Given the description of an element on the screen output the (x, y) to click on. 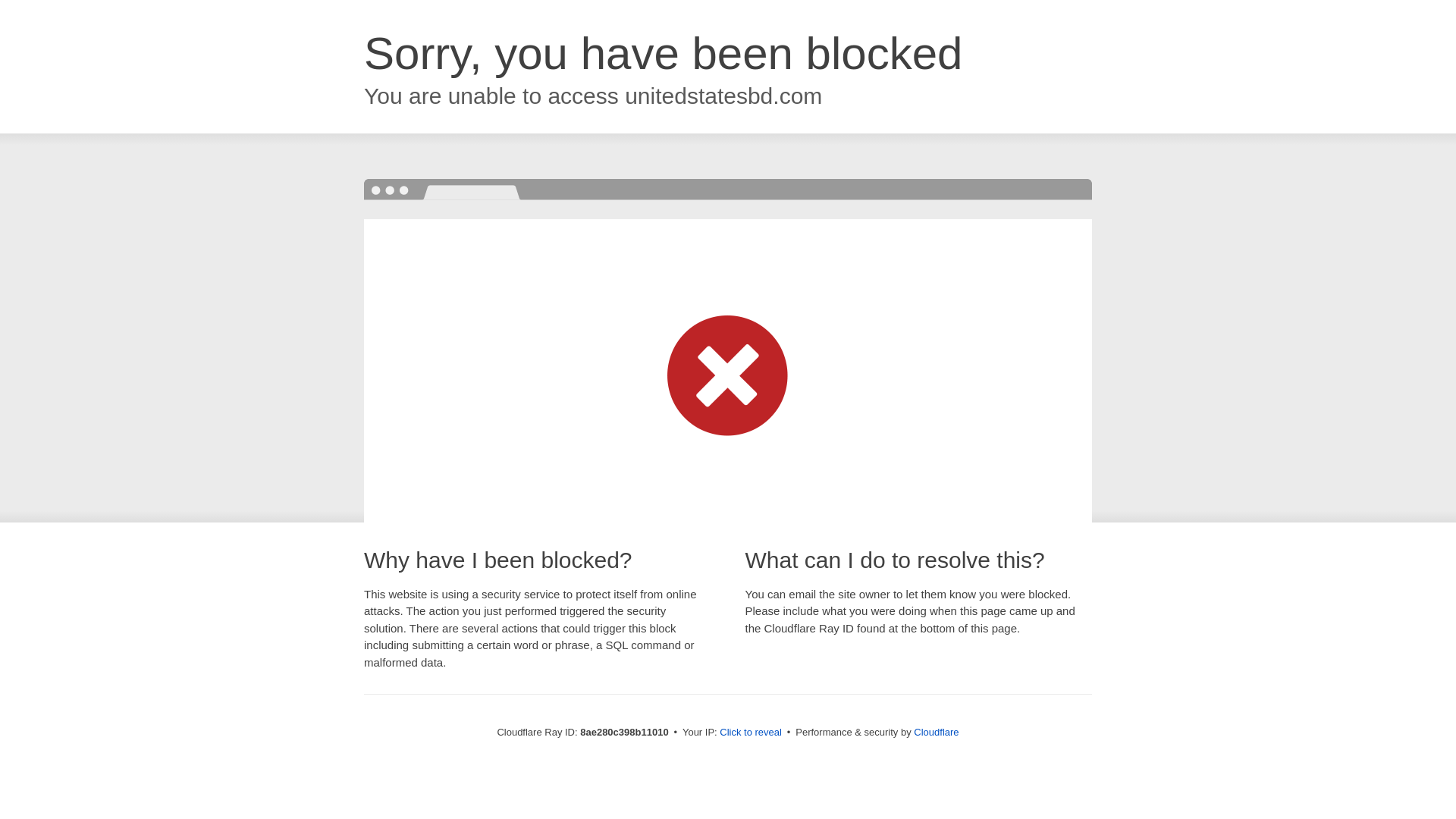
Cloudflare (936, 731)
Click to reveal (750, 732)
